Given the description of an element on the screen output the (x, y) to click on. 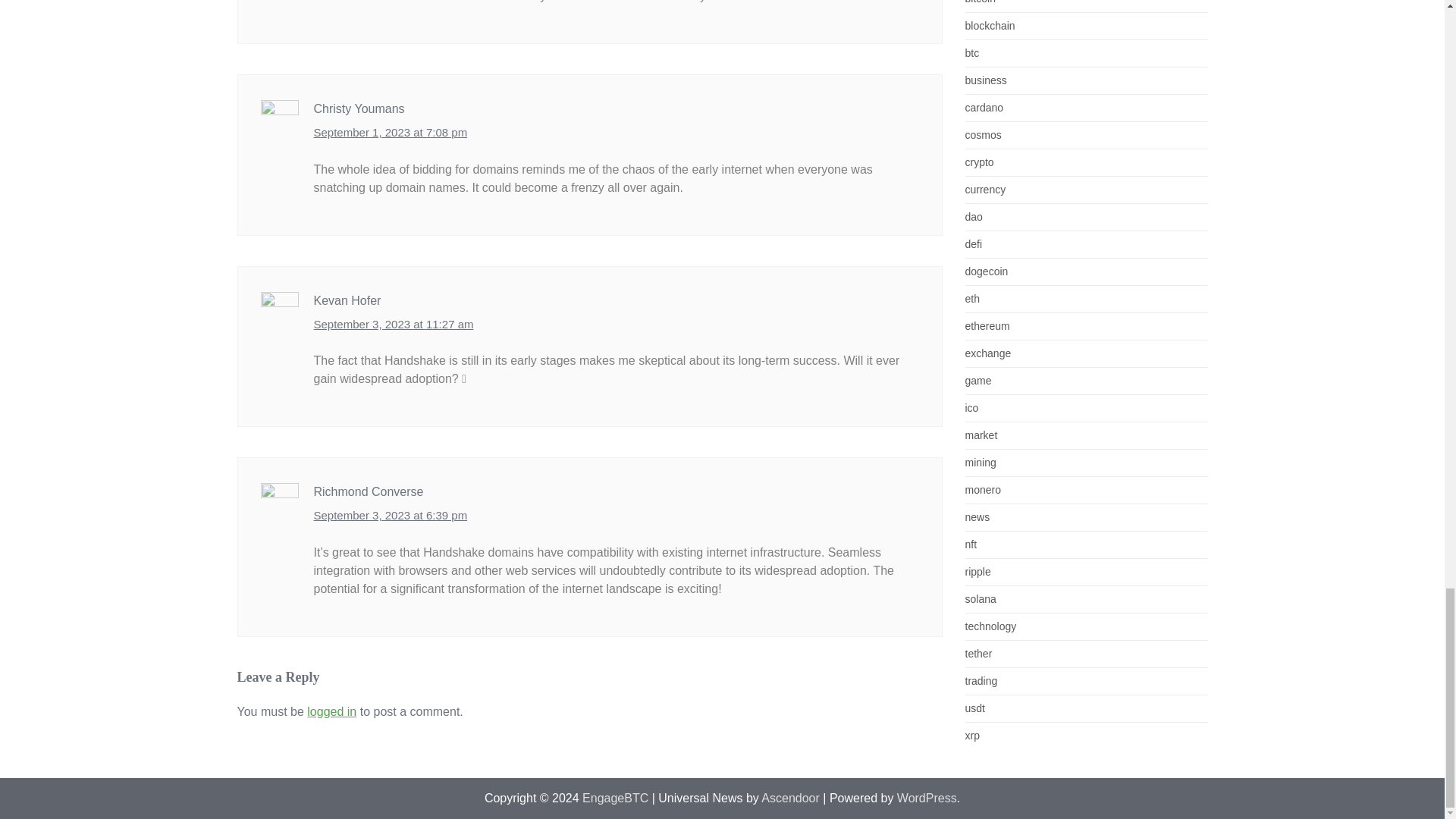
September 3, 2023 at 6:39 pm (390, 515)
September 3, 2023 at 11:27 am (394, 324)
logged in (331, 711)
September 1, 2023 at 7:08 pm (390, 132)
